Given the description of an element on the screen output the (x, y) to click on. 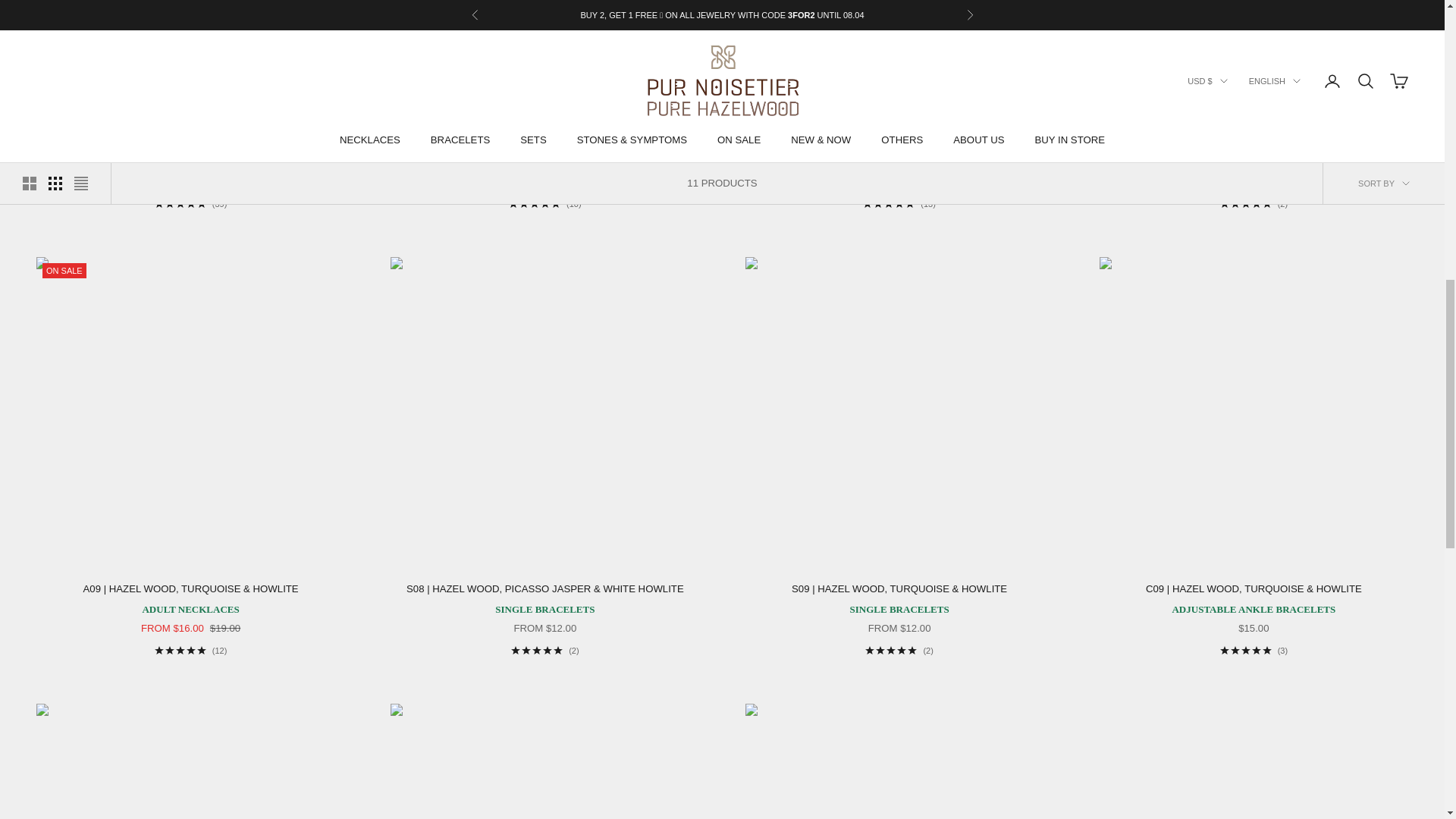
2 reviews (1253, 203)
12 reviews (190, 650)
2 reviews (544, 650)
13 reviews (899, 203)
2 reviews (898, 650)
3 reviews (1253, 650)
10 reviews (544, 203)
39 reviews (190, 203)
